Given the description of an element on the screen output the (x, y) to click on. 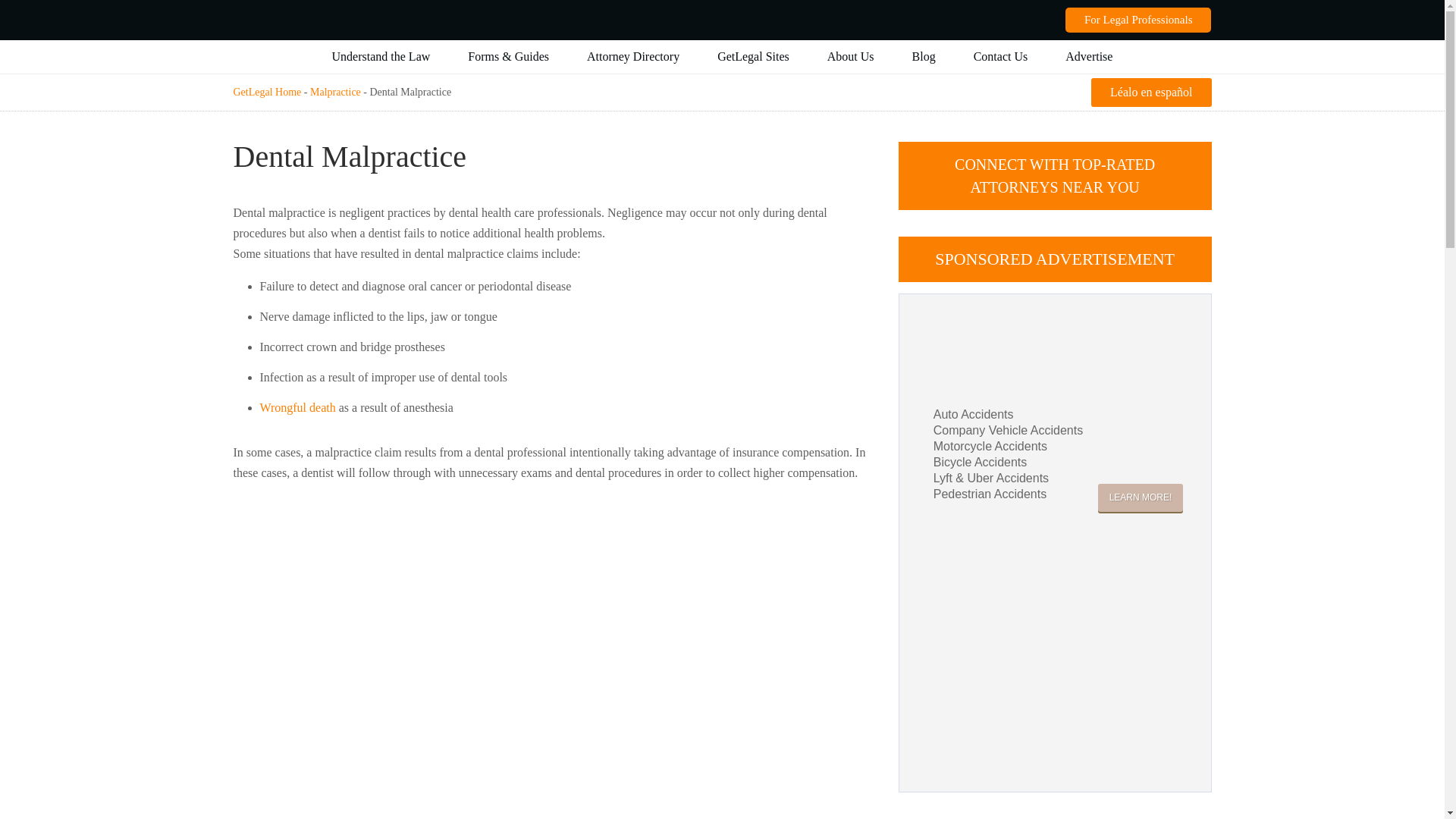
Understand the Law (380, 56)
GetLegal Sites (753, 56)
Blog (924, 56)
Malpractice (335, 91)
GetLegal Home (266, 91)
Contact Us (1000, 56)
Advertise (1088, 56)
About Us (851, 56)
GetLegal Sites (753, 56)
Contact Us (1000, 56)
Wrongful death (296, 407)
Attorney Directory (632, 56)
Blog (924, 56)
About Us (851, 56)
Understand the Law (380, 56)
